Given the description of an element on the screen output the (x, y) to click on. 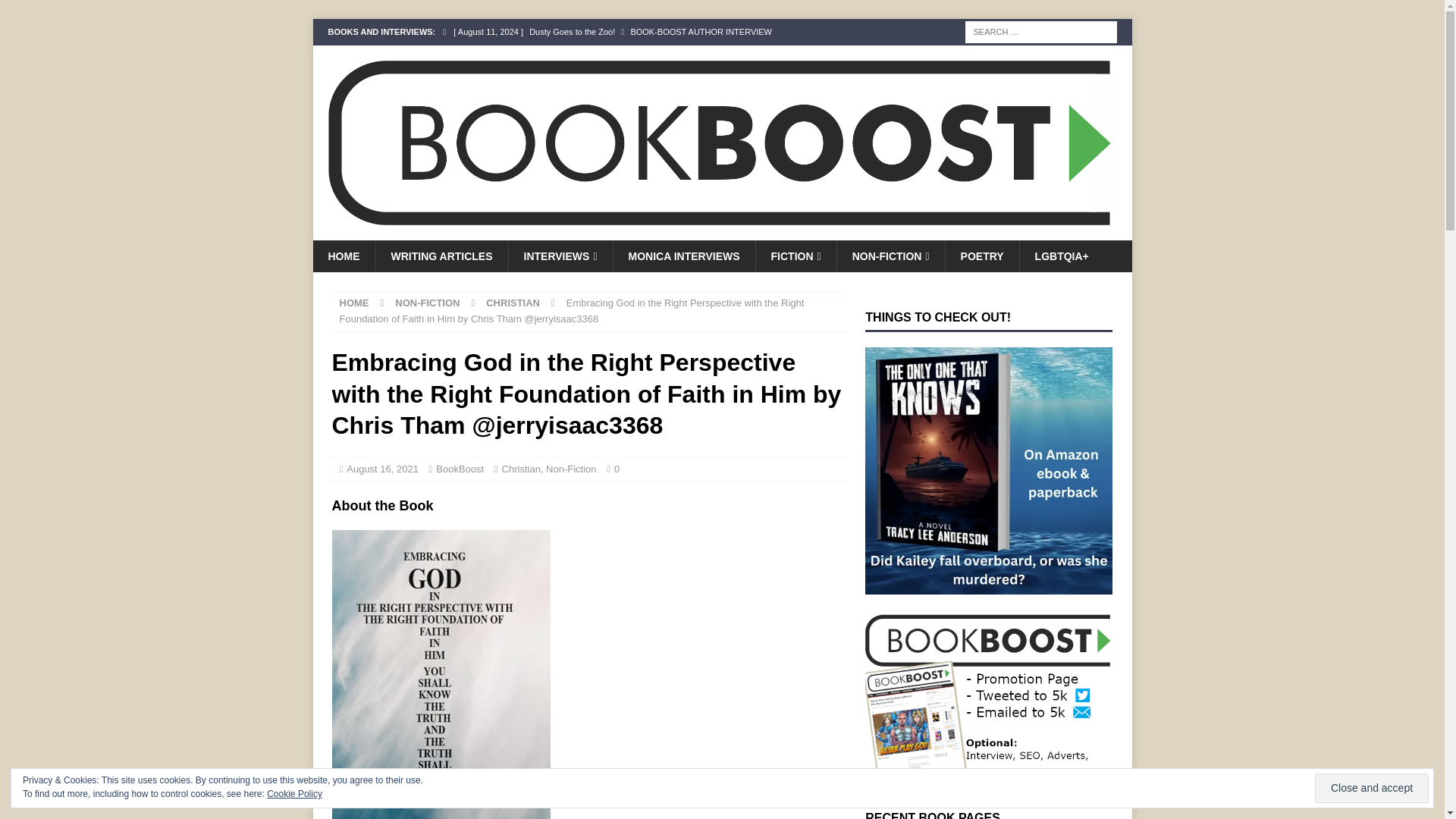
MONICA INTERVIEWS (683, 255)
Dusty Goes to the Zoo! (651, 31)
WRITING ARTICLES (440, 255)
HOME (354, 302)
NON-FICTION (889, 255)
FICTION (795, 255)
CHRISTIAN (513, 302)
Search (56, 11)
POETRY (981, 255)
